Given the description of an element on the screen output the (x, y) to click on. 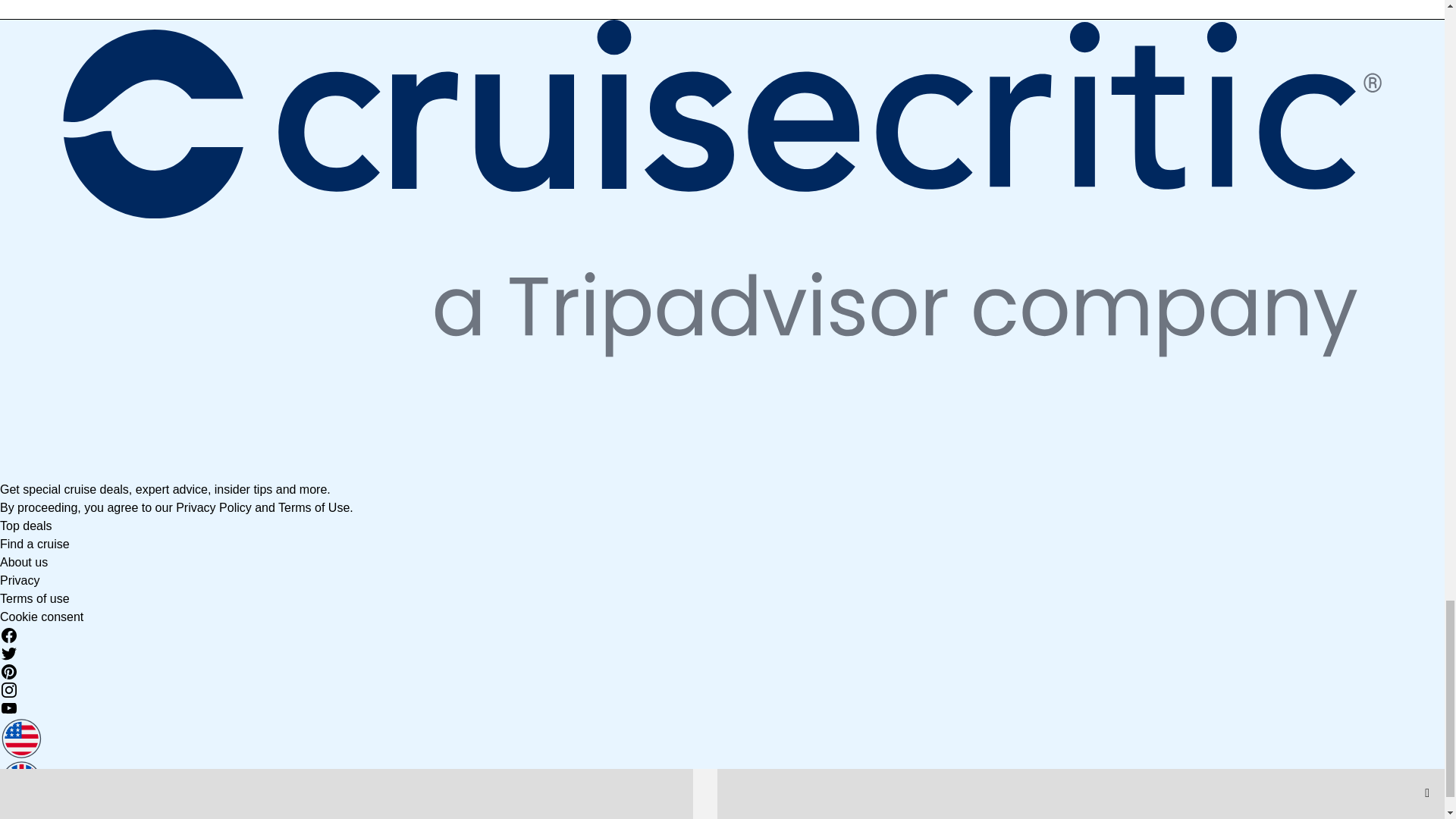
Find a cruise (34, 543)
Terms of Use (313, 507)
About us (24, 562)
Terms of use (34, 598)
Privacy (19, 580)
Cookie consent (41, 617)
Privacy Policy (213, 507)
Top deals (26, 525)
